Given the description of an element on the screen output the (x, y) to click on. 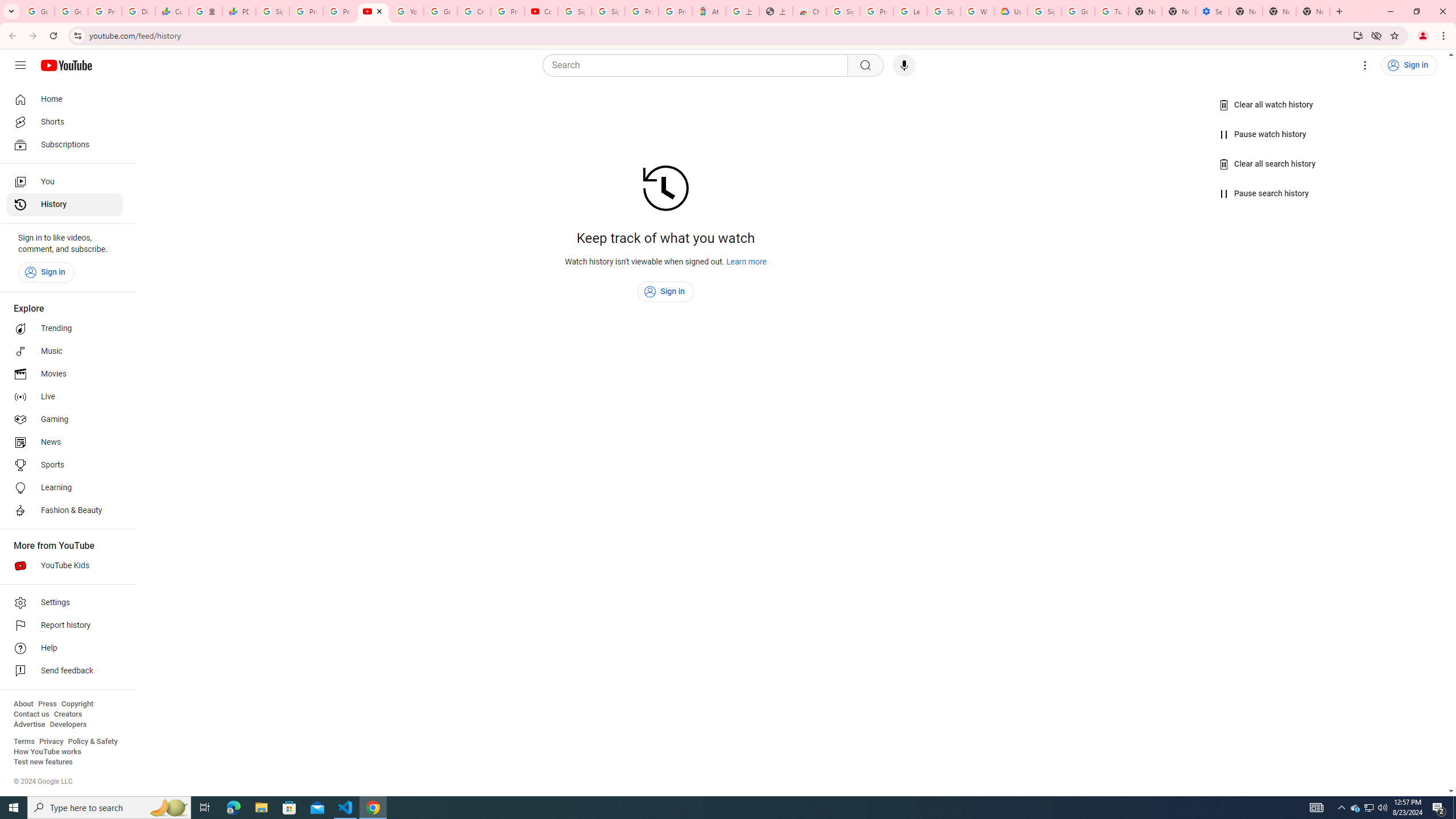
Address and search bar (717, 35)
About (23, 703)
Sign in - Google Accounts (842, 11)
YouTube (406, 11)
Contact us (31, 714)
Copyright (77, 703)
Learning (64, 487)
Atour Hotel - Google hotels (708, 11)
Send feedback (64, 671)
Currencies - Google Finance (171, 11)
Gaming (64, 419)
History (64, 204)
Search (865, 65)
